Given the description of an element on the screen output the (x, y) to click on. 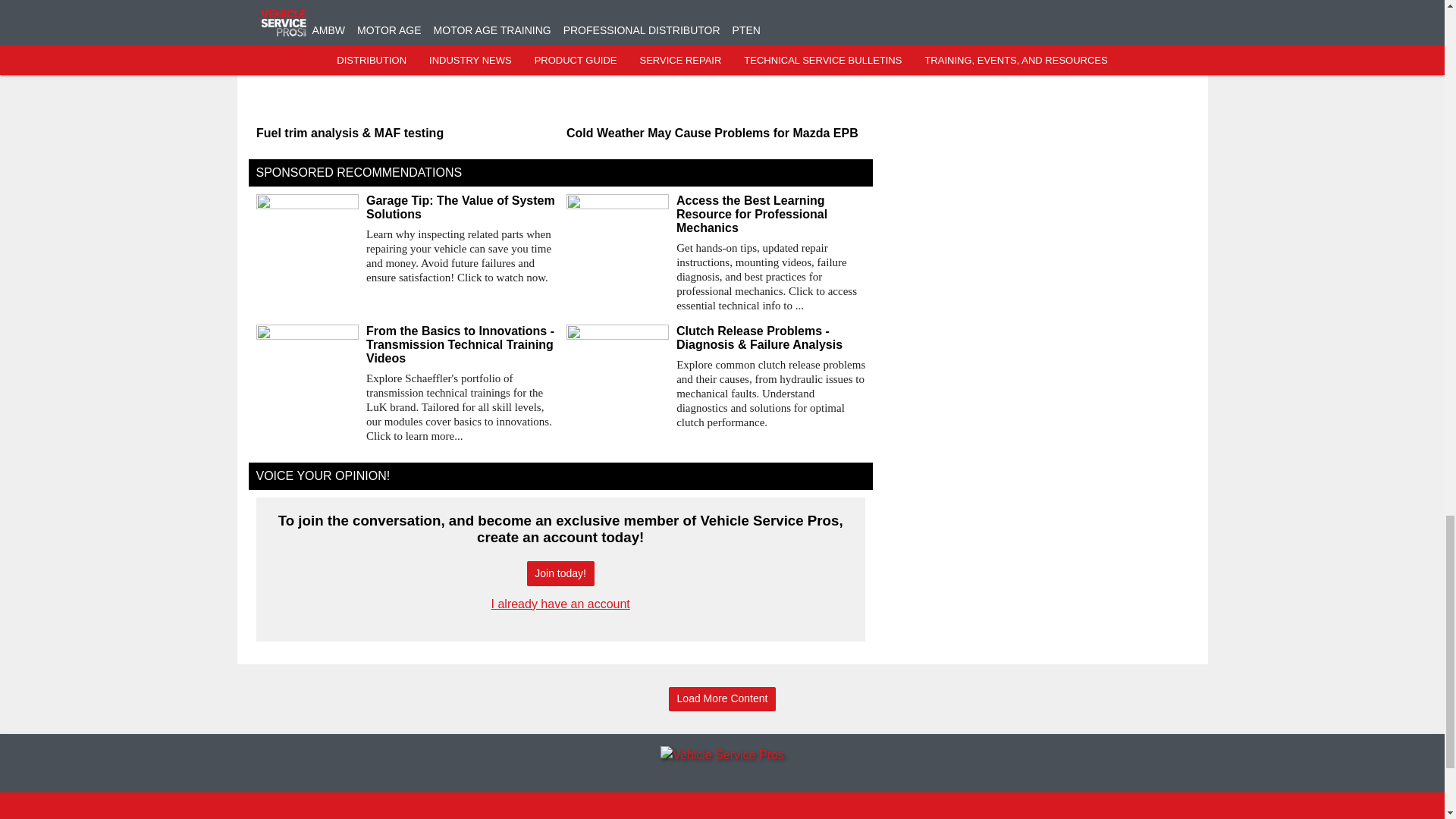
I already have an account (561, 603)
Access the Best Learning Resource for Professional Mechanics (770, 214)
Join today! (560, 573)
Garage Tip: The Value of System Solutions (459, 207)
Cold Weather May Cause Problems for Mazda EPB (715, 133)
